Given the description of an element on the screen output the (x, y) to click on. 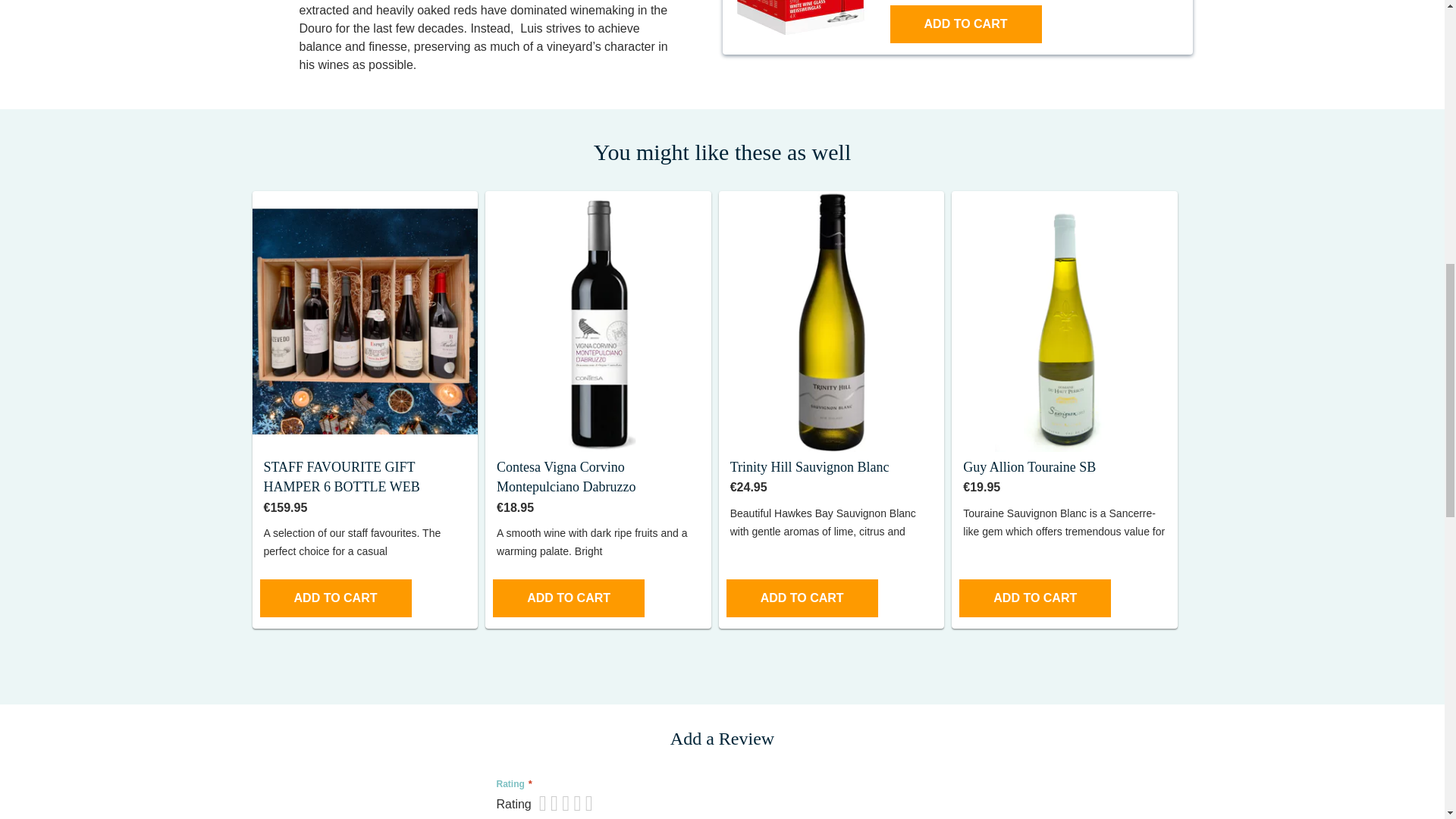
Trinity Hill Sauvignon Blanc (809, 467)
Add to Cart (965, 23)
Add to Cart (801, 598)
STAFF FAVOURITE GIFT HAMPER 6 BOTTLE WEB (341, 476)
Add to Cart (569, 598)
Contesa Vigna Corvino Montepulciano Dabruzzo (565, 476)
Add to Cart (334, 598)
